Given the description of an element on the screen output the (x, y) to click on. 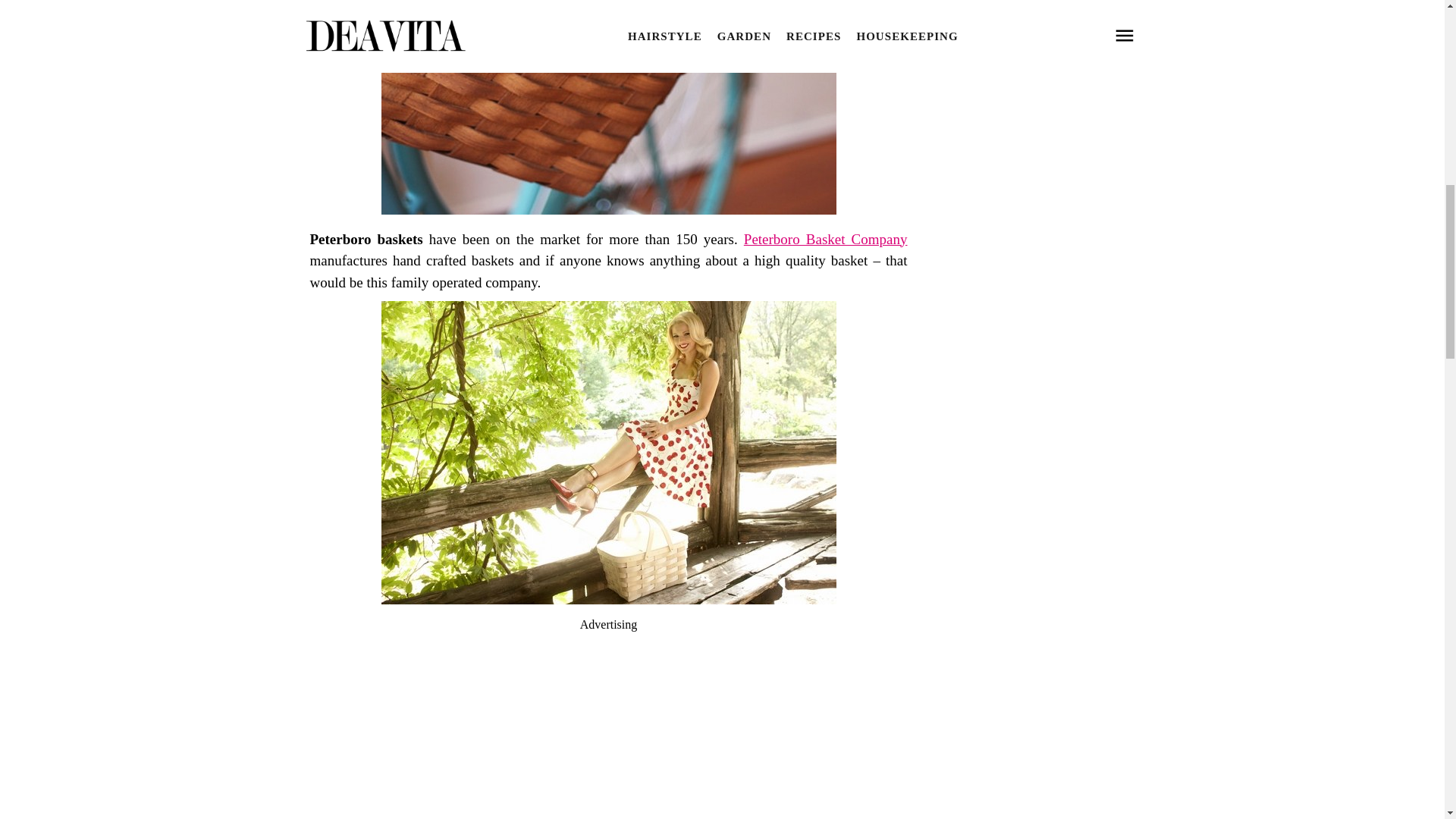
Bike-baskets-high-quality-baskets-by peterboro (607, 209)
Classic-petrboro-baskets-traditional-basket-designs (607, 599)
